Given the description of an element on the screen output the (x, y) to click on. 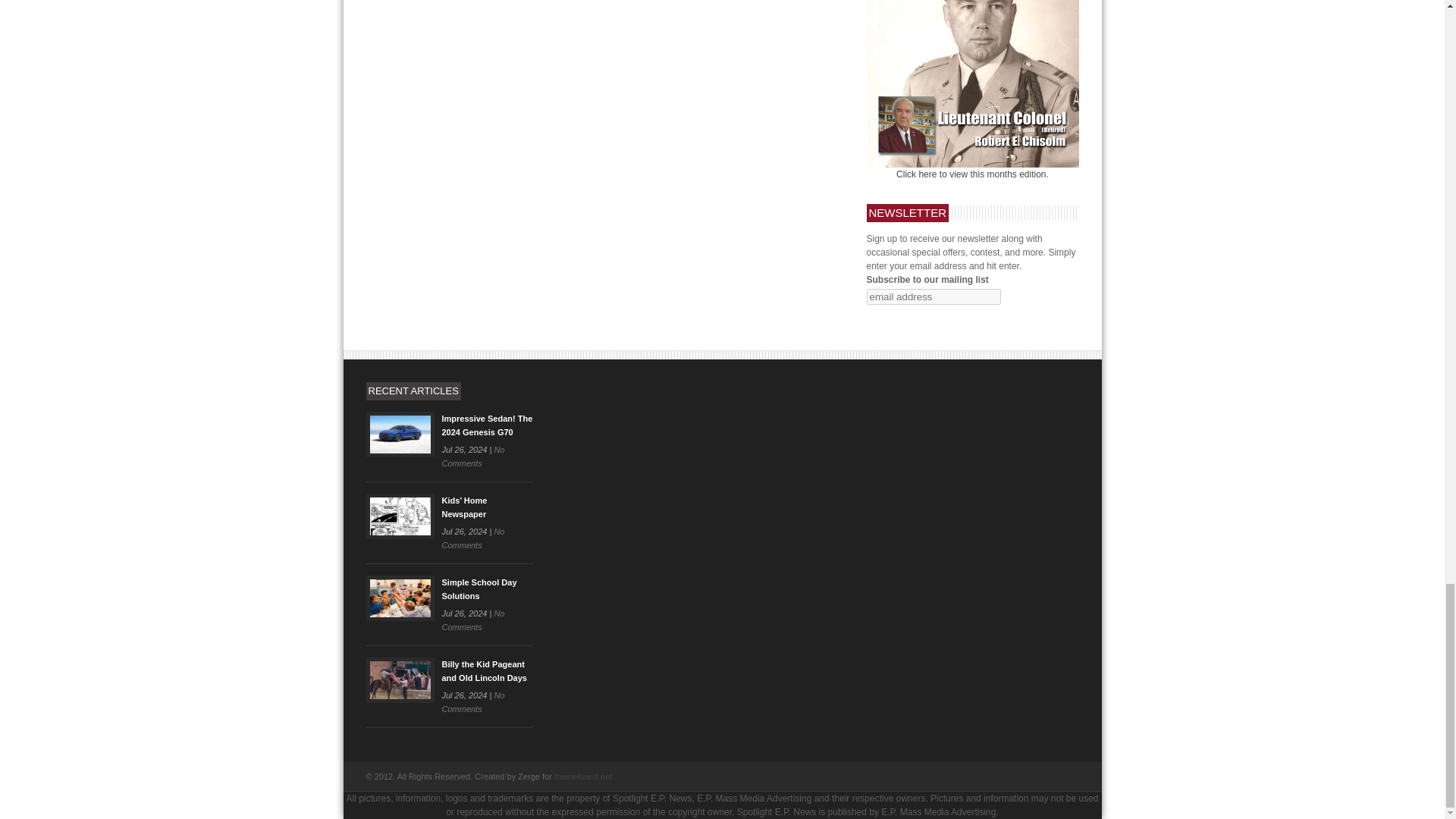
Billy the Kid Pageant and  Old Lincoln Days (399, 679)
Impressive Sedan! The 2024 Genesis G70 (486, 425)
Click here to view this months edition. (972, 173)
No Comments (472, 456)
Impressive Sedan! The 2024 Genesis G70 (486, 425)
Impressive Sedan! The 2024 Genesis G70 (399, 434)
No Comments (472, 538)
Simple School Day Solutions (399, 597)
Subscribe (892, 316)
Simple School Day Solutions (478, 589)
Billy the Kid Pageant and  Old Lincoln Days (483, 671)
